Given the description of an element on the screen output the (x, y) to click on. 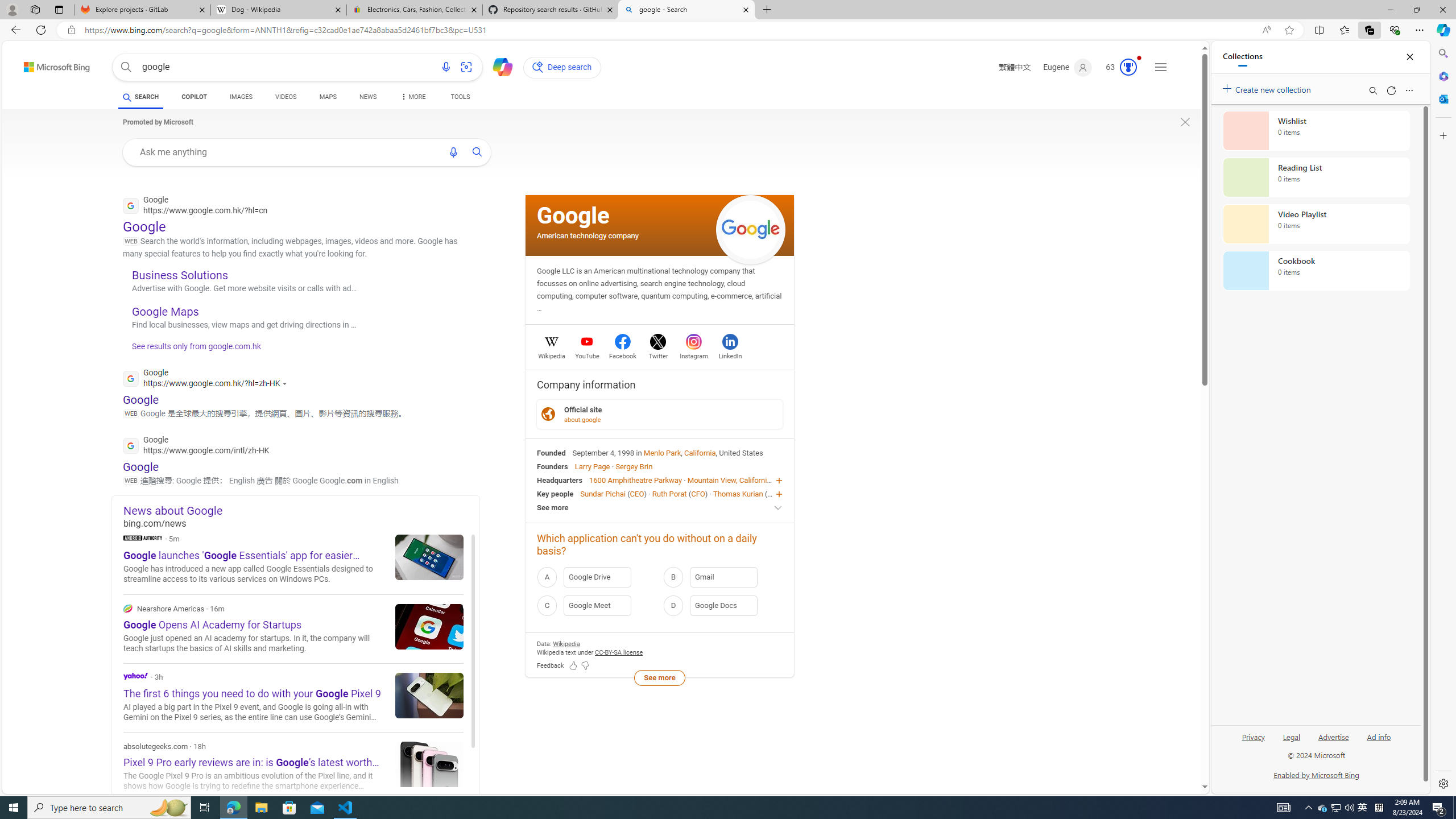
C Google Meet (596, 605)
Facebook (622, 354)
LinkedIn (729, 354)
Nearshore Americas (127, 608)
Google Opens AI Academy for Startups (428, 626)
More options menu (1409, 90)
Android Authority (142, 537)
Search button (126, 66)
Wishlist collection, 0 items (1316, 130)
Search using voice (452, 151)
COPILOT (193, 96)
IMAGES (241, 98)
